Given the description of an element on the screen output the (x, y) to click on. 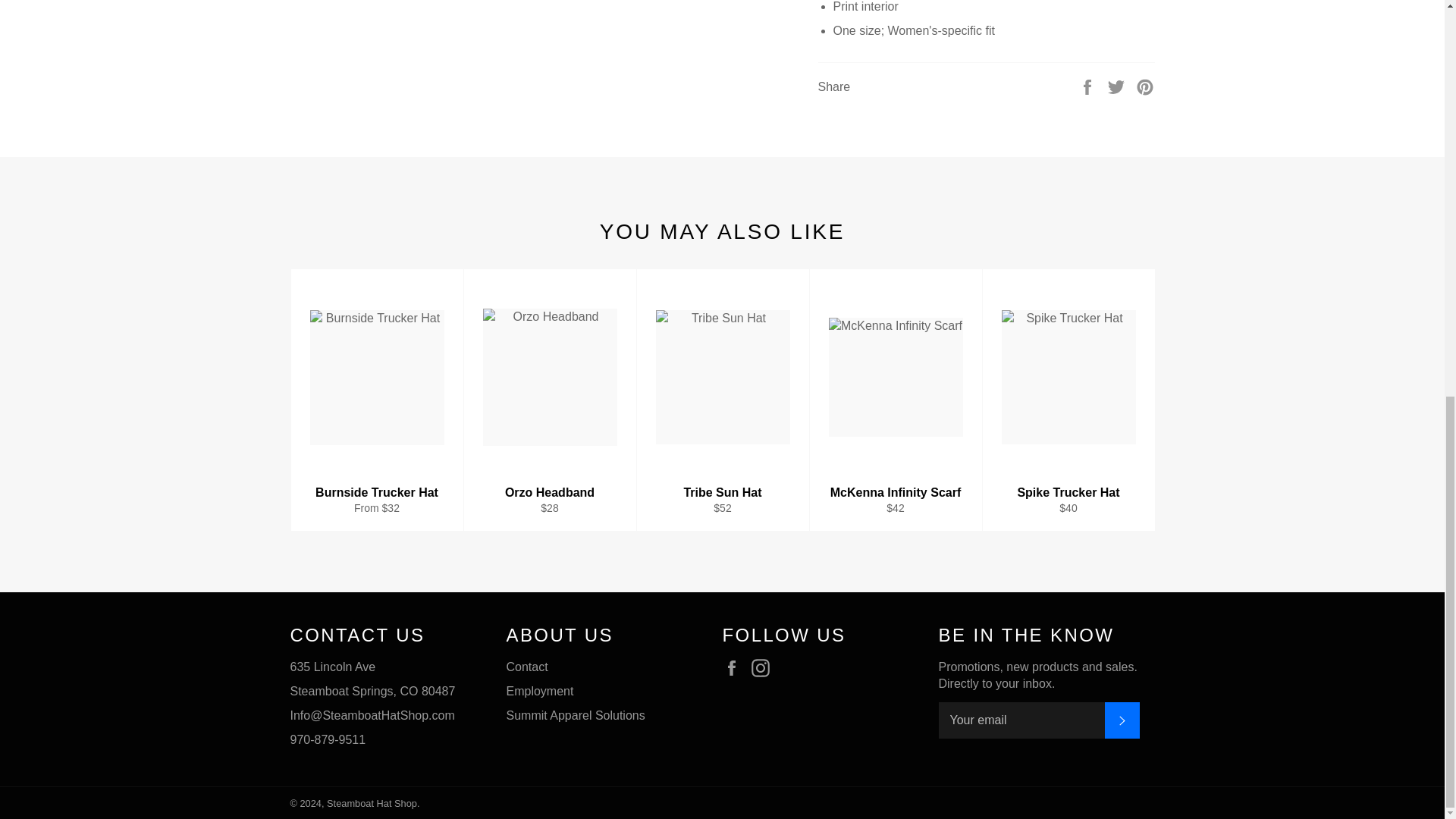
SummitApparelSolutions (575, 715)
Share on Facebook (1088, 85)
Steamboat Hat Shop (527, 666)
Employment (539, 690)
Tweet on Twitter (1117, 85)
Pin on Pinterest (1144, 85)
Steamboat Hat Shop on Instagram (764, 668)
Steamboat Hat Shop on Facebook (735, 668)
